Given the description of an element on the screen output the (x, y) to click on. 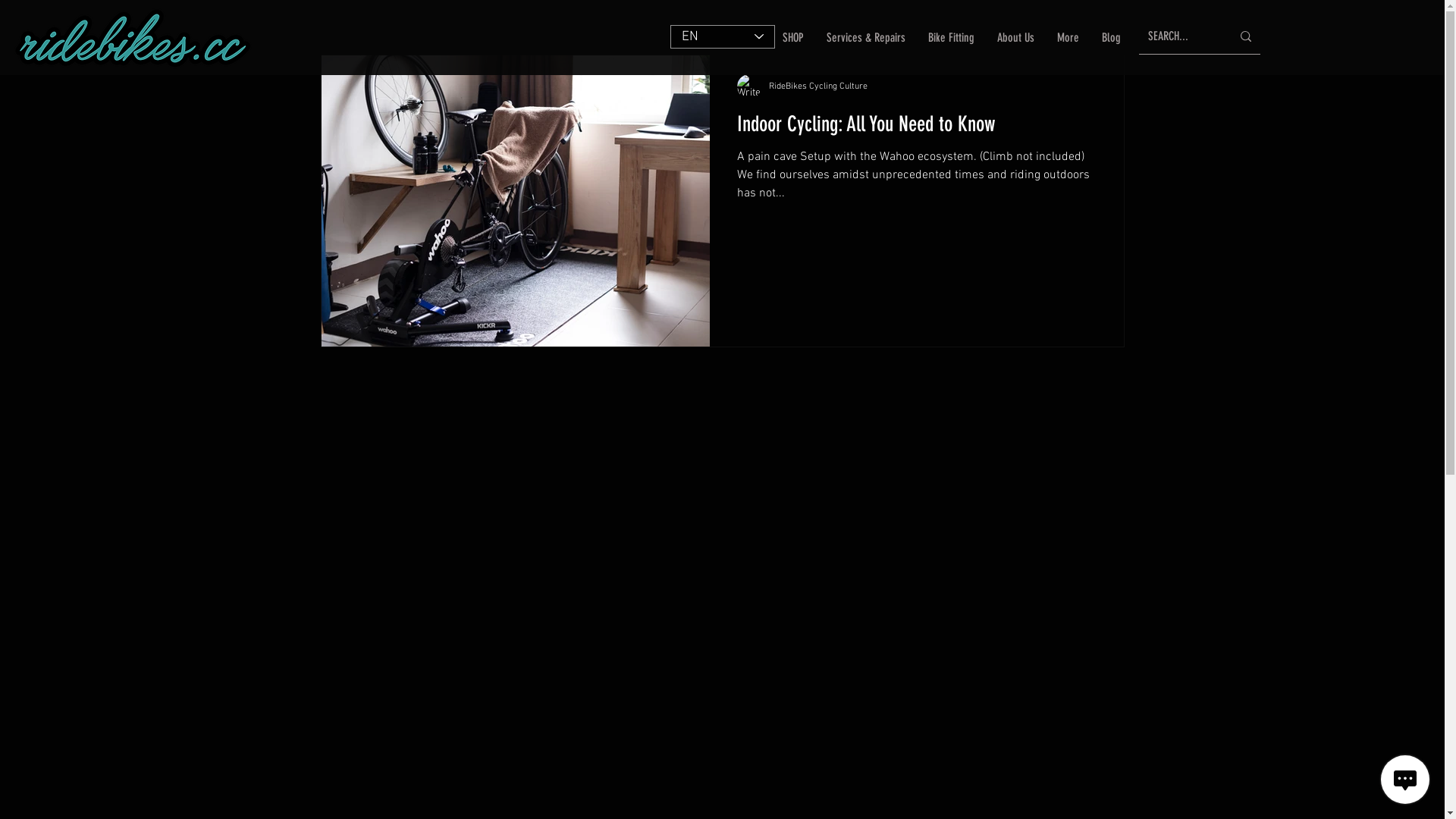
mailersign.png Element type: hover (134, 37)
Services & Repairs Element type: text (865, 37)
SHOP Element type: text (793, 37)
About Us Element type: text (1015, 37)
Blog Element type: text (1111, 37)
Indoor Cycling: All You Need to Know Element type: text (916, 127)
Bike Fitting Element type: text (950, 37)
RideBikes Cycling Culture Element type: text (817, 85)
More Element type: text (1067, 37)
